Given the description of an element on the screen output the (x, y) to click on. 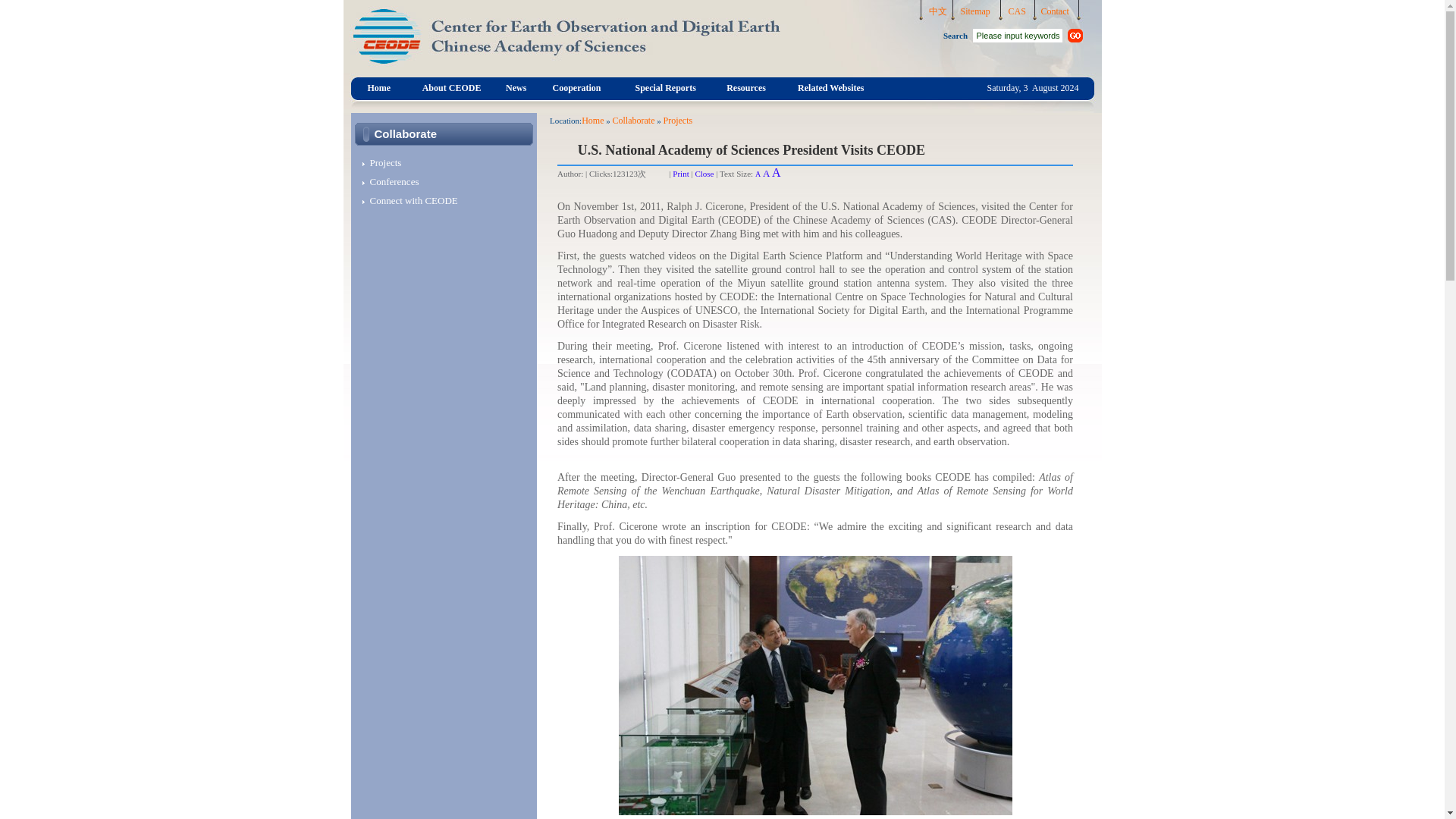
Home (592, 120)
Please input keywords (1016, 35)
Sitemap (974, 10)
Connect with CEODE (410, 199)
Cooperation (576, 85)
Collaborate (632, 120)
Resources (746, 85)
About CEODE (451, 85)
Related Websites (830, 85)
Home (378, 85)
Contact (1054, 10)
Projects (381, 161)
Projects (677, 120)
Close (703, 173)
Special Reports (665, 85)
